Given the description of an element on the screen output the (x, y) to click on. 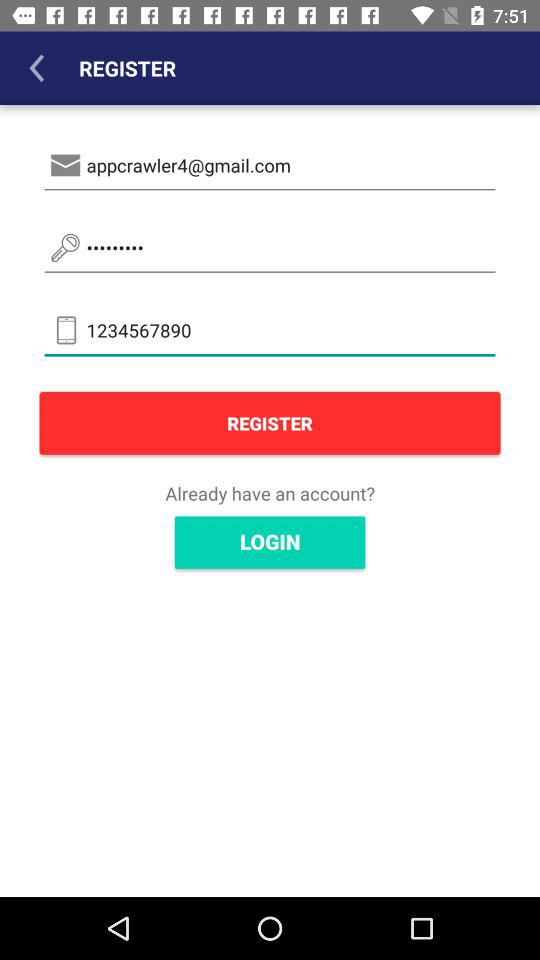
click the item above the appcrawler4@gmail.com icon (36, 68)
